Given the description of an element on the screen output the (x, y) to click on. 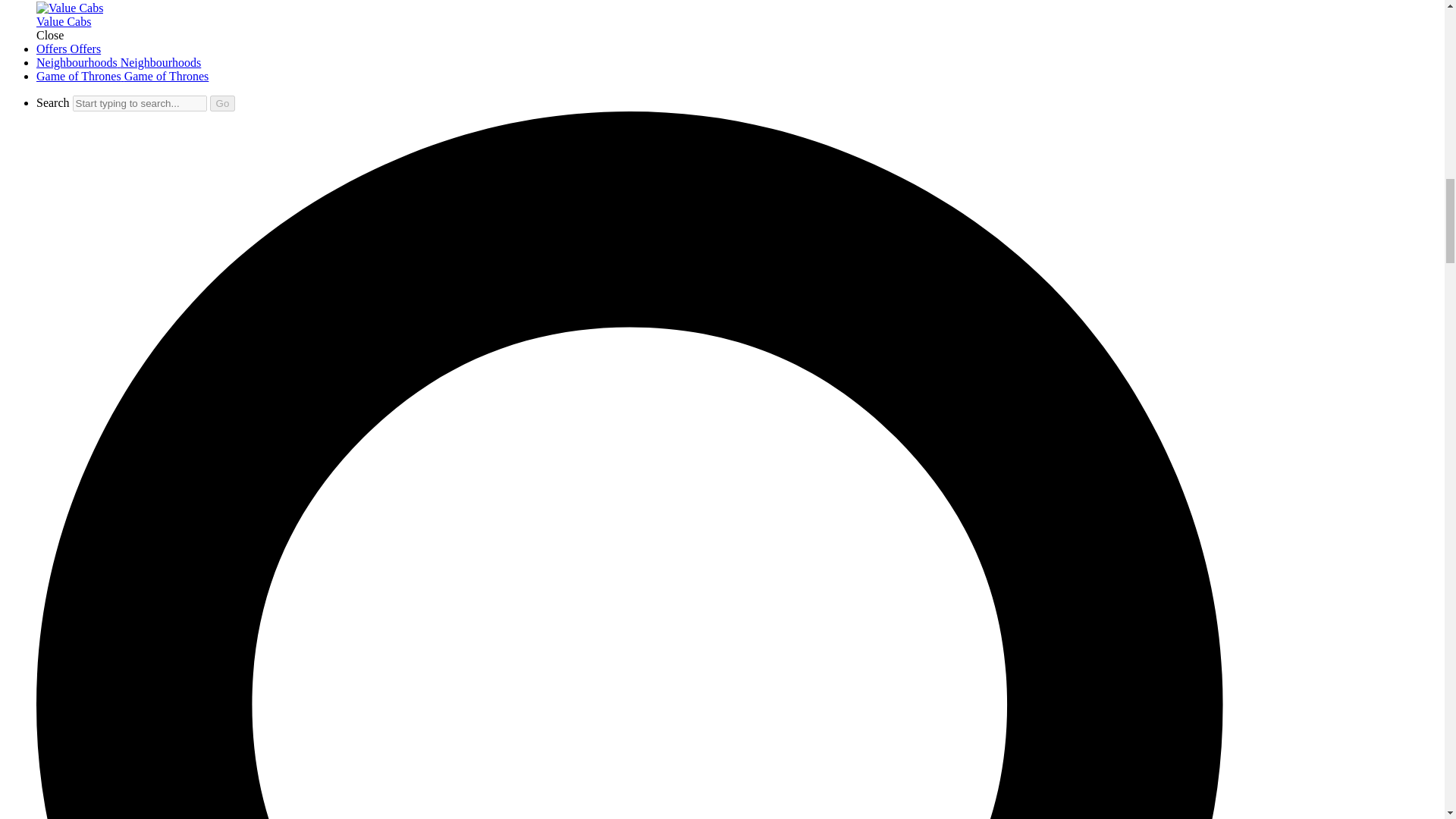
Go (222, 103)
Go (222, 103)
